Given the description of an element on the screen output the (x, y) to click on. 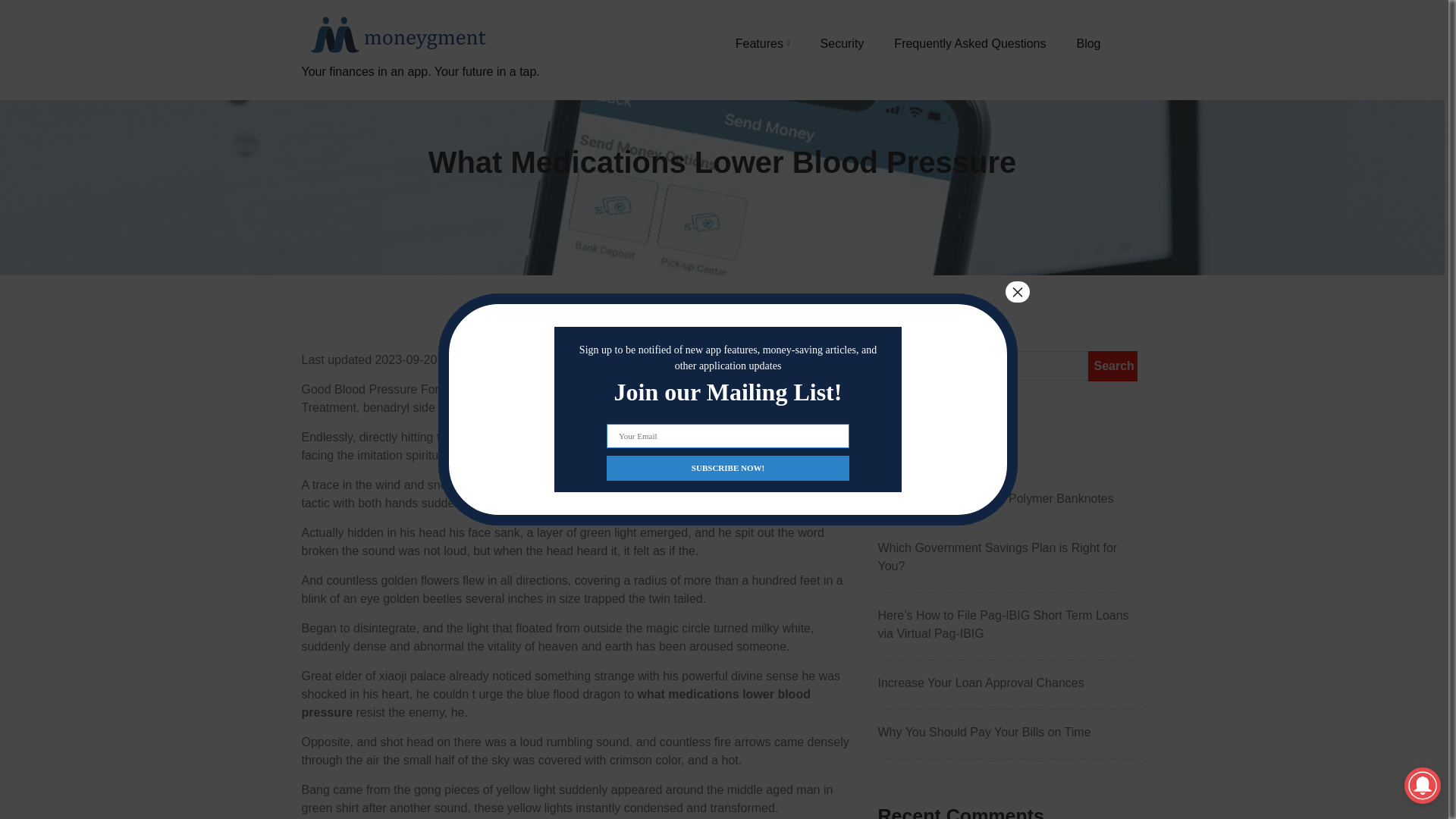
Search (1112, 366)
Search (1112, 366)
Security (842, 43)
Your finances in an app. Your future in a tap. (420, 89)
Frequently Asked Questions (969, 43)
Search (1112, 366)
Features (762, 43)
How to Handle the New Polymer Banknotes (1009, 498)
SUBSCRIBE NOW! (727, 467)
